Given the description of an element on the screen output the (x, y) to click on. 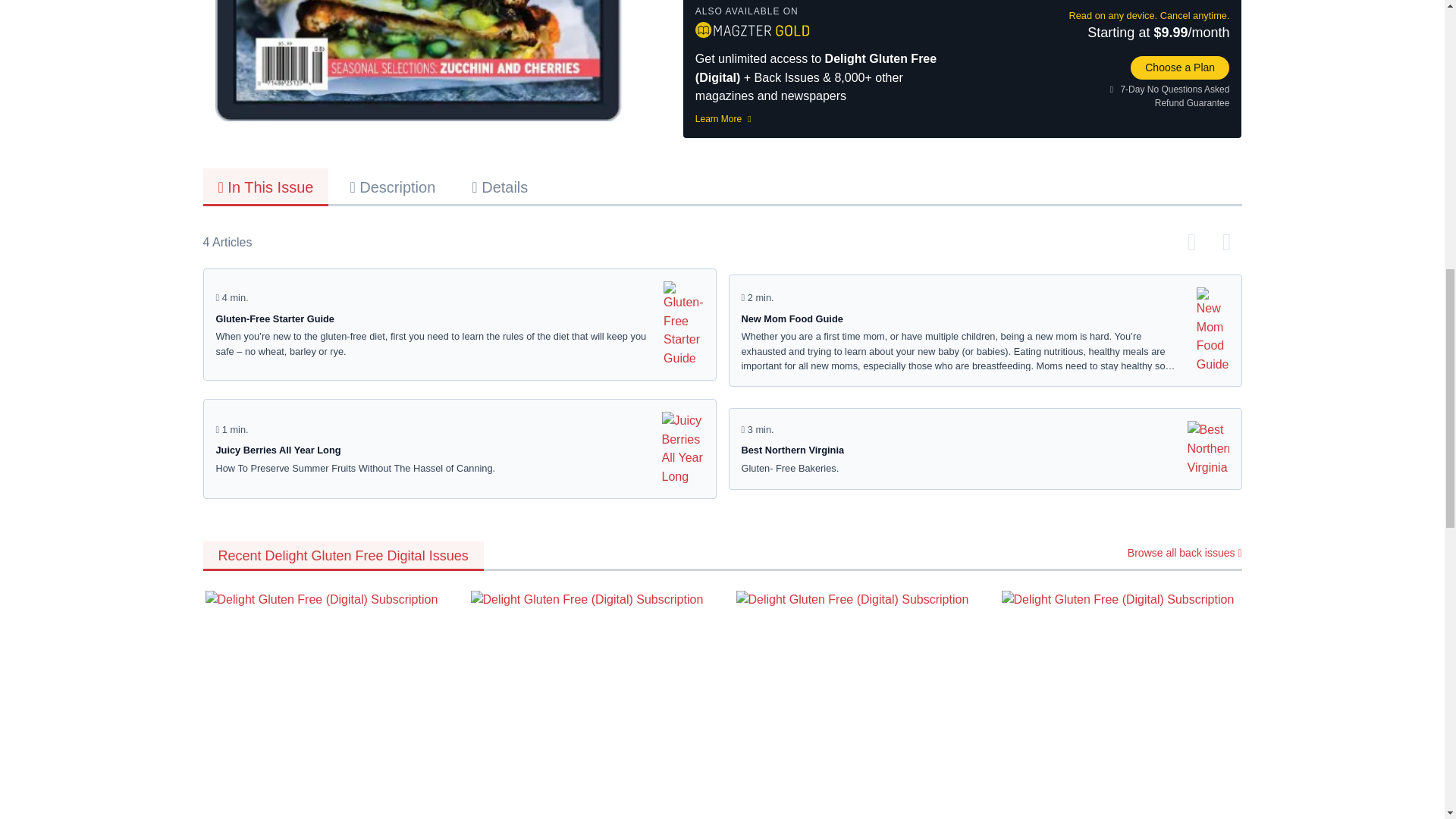
Learn More (827, 119)
Description (391, 185)
In This Issue (266, 187)
Choose a Plan (1180, 67)
Browse all back issues (1183, 552)
Delight Gluten Free Digital Back Issue Cover (419, 60)
Details (984, 448)
